Given the description of an element on the screen output the (x, y) to click on. 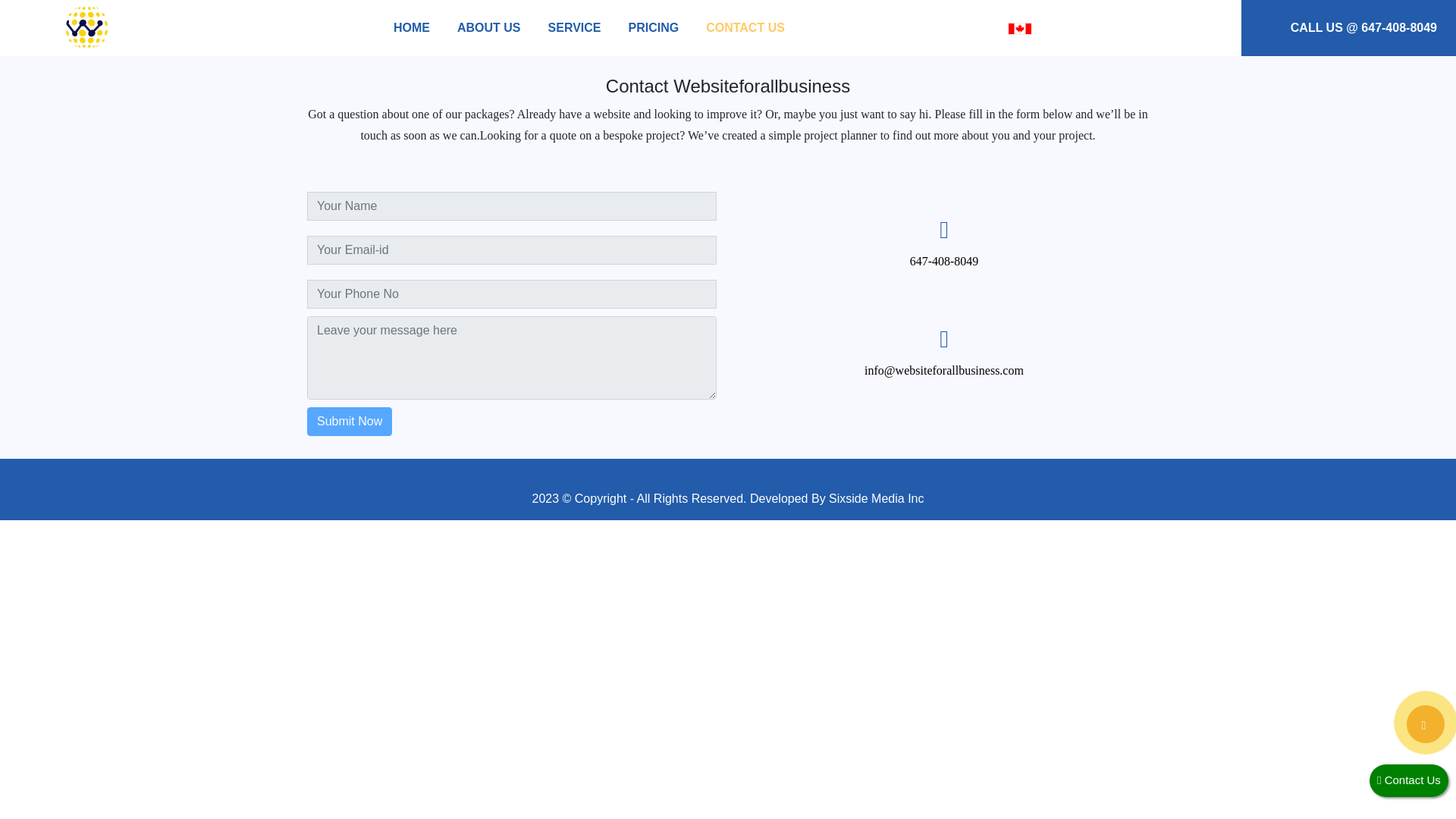
Submit Now (353, 421)
PRICING (652, 27)
Submit Now (486, 421)
Canada (1019, 28)
SERVICE (574, 27)
Website For All Business Logo (87, 27)
HOME (411, 27)
Sixside Media Inc (875, 498)
CONTACT US (745, 27)
647-408-8049 (1061, 260)
ABOUT US (489, 27)
